Given the description of an element on the screen output the (x, y) to click on. 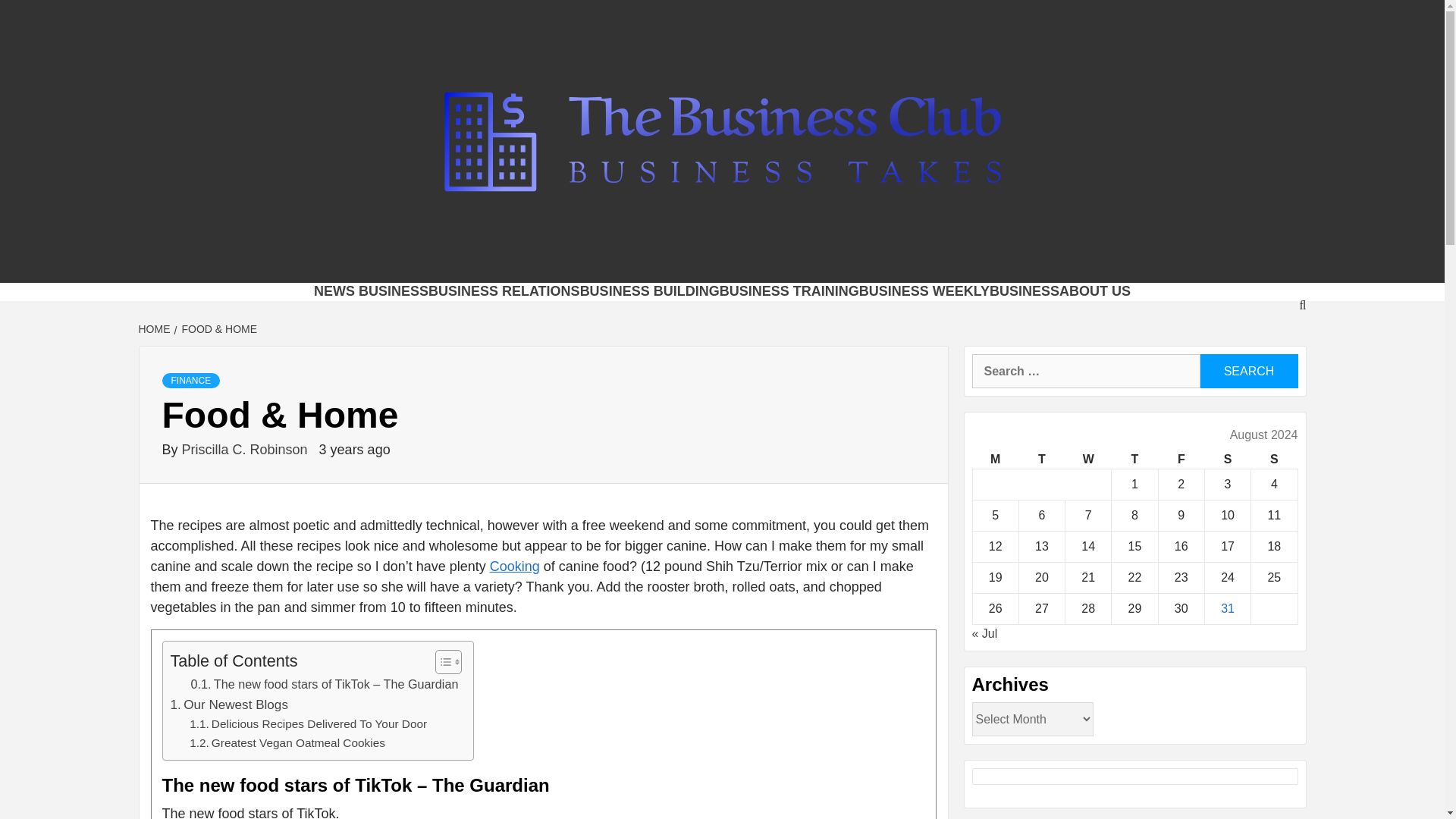
Our Newest Blogs (228, 704)
Search (1248, 370)
BUSINESS RELATIONS (503, 290)
Sunday (1273, 459)
THE BUSINESS CLUB (537, 263)
Greatest Vegan Oatmeal Cookies (287, 742)
FINANCE (191, 380)
Saturday (1227, 459)
Wednesday (1088, 459)
Thursday (1134, 459)
